Given the description of an element on the screen output the (x, y) to click on. 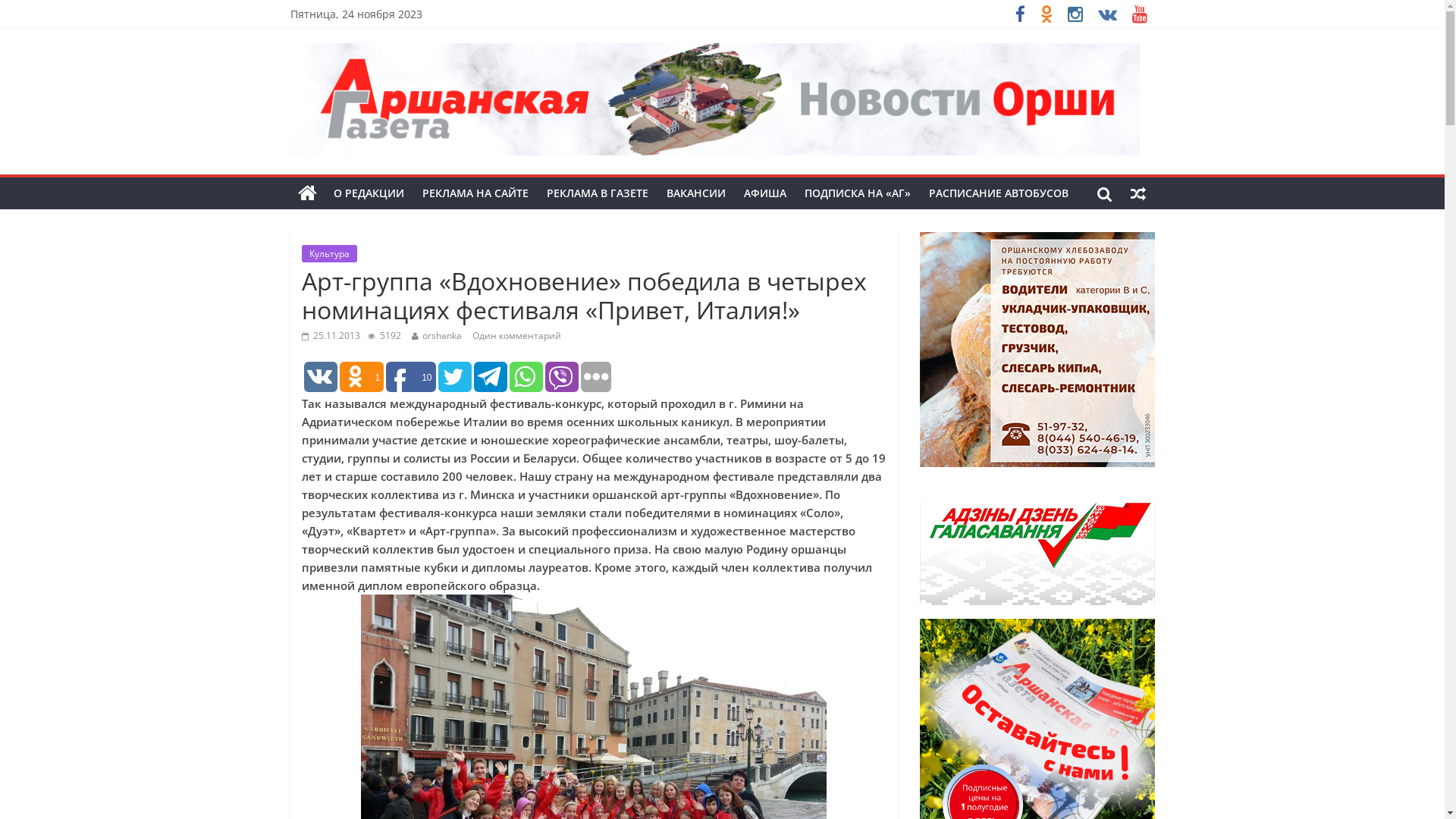
25.11.2013 Element type: text (330, 335)
orshanka Element type: text (441, 335)
5192 Element type: text (383, 335)
